Given the description of an element on the screen output the (x, y) to click on. 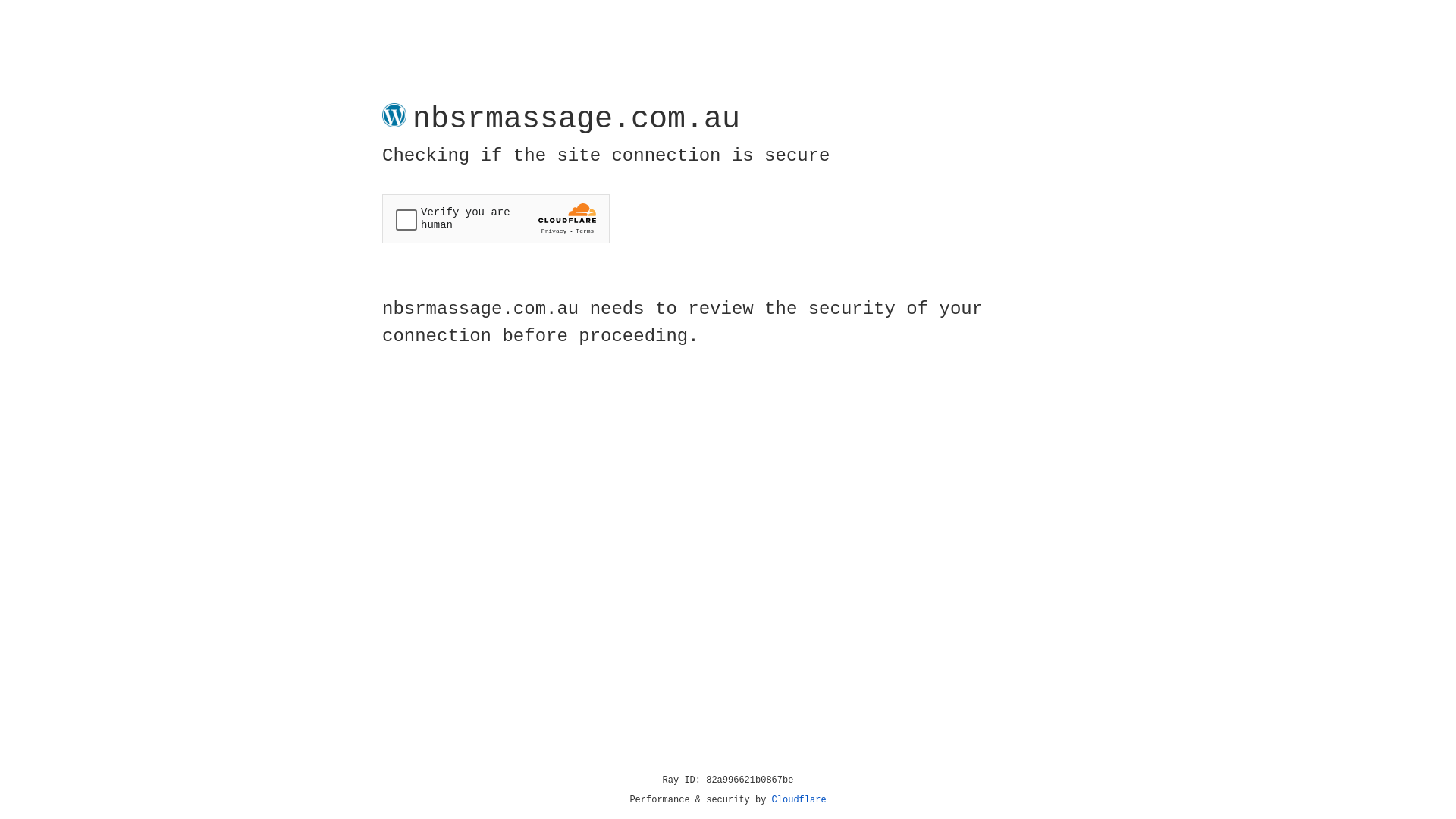
Cloudflare Element type: text (798, 799)
Widget containing a Cloudflare security challenge Element type: hover (495, 218)
